Given the description of an element on the screen output the (x, y) to click on. 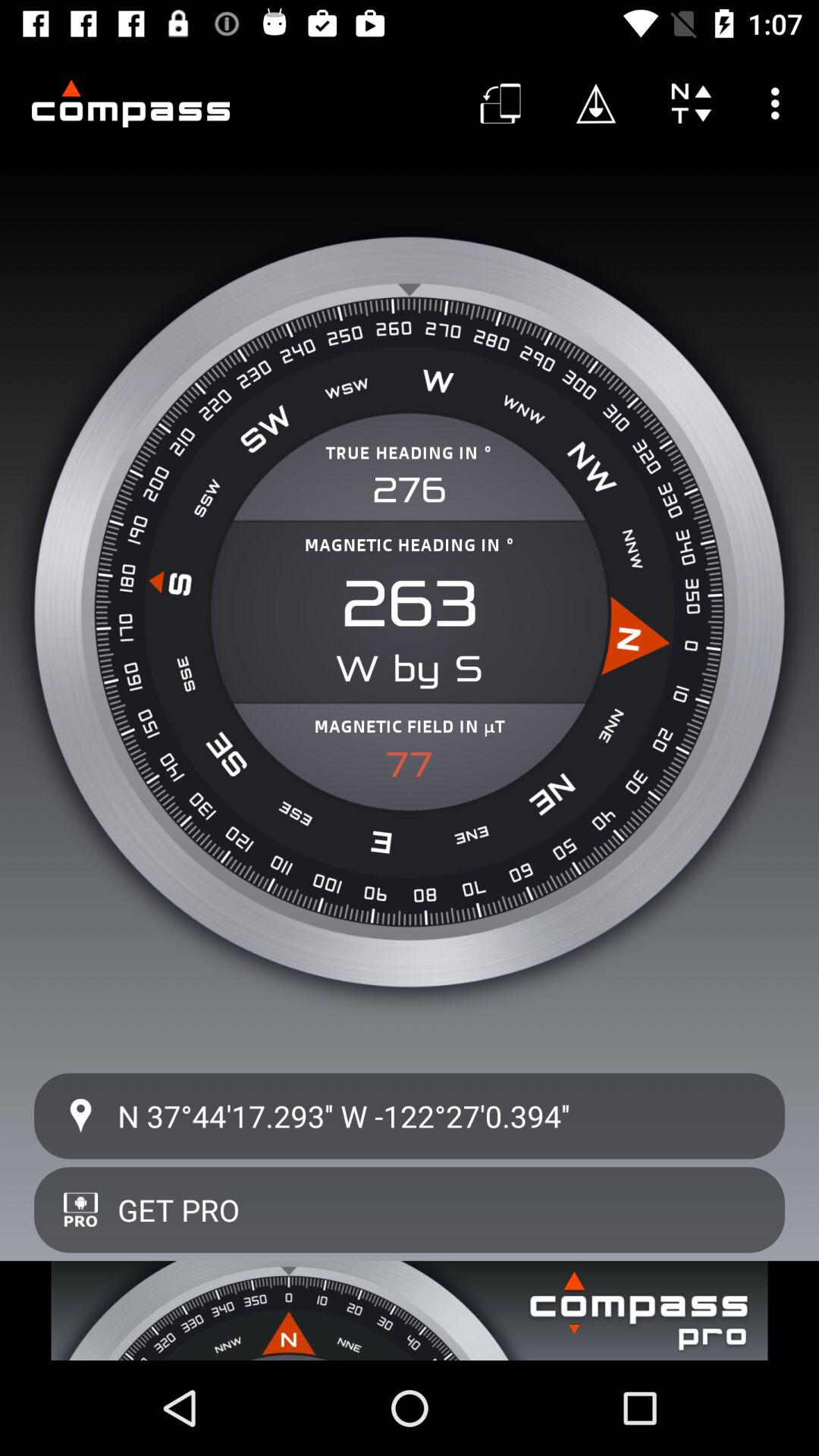
jump to the w by s icon (409, 668)
